Given the description of an element on the screen output the (x, y) to click on. 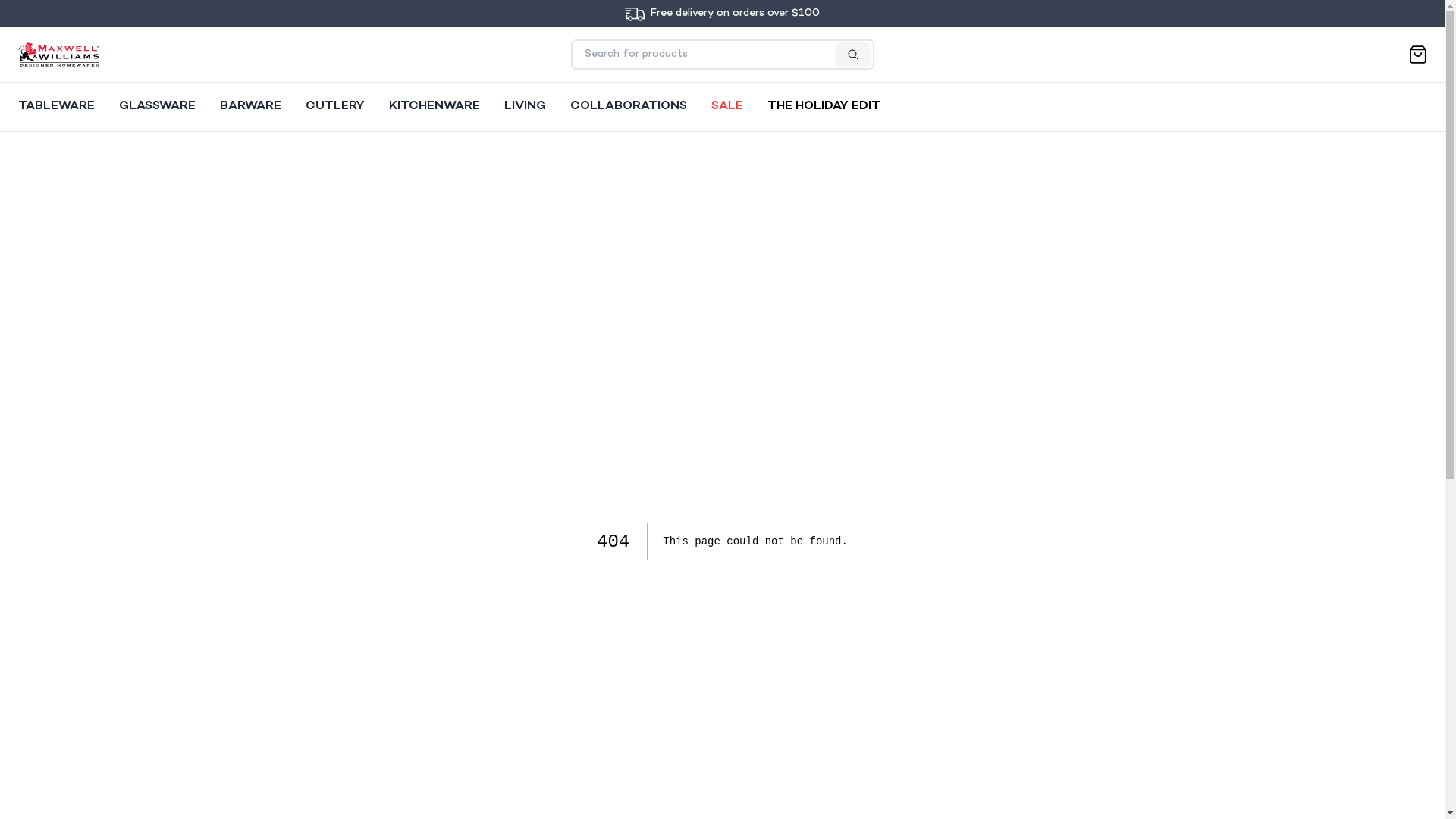
SALE Element type: text (727, 106)
COLLABORATIONS Element type: text (628, 106)
TABLEWARE Element type: text (56, 106)
LIVING Element type: text (525, 106)
BARWARE Element type: text (250, 106)
KITCHENWARE Element type: text (434, 106)
GLASSWARE Element type: text (157, 106)
THE HOLIDAY EDIT Element type: text (823, 106)
Search Element type: text (590, 48)
CUTLERY Element type: text (334, 106)
